Given the description of an element on the screen output the (x, y) to click on. 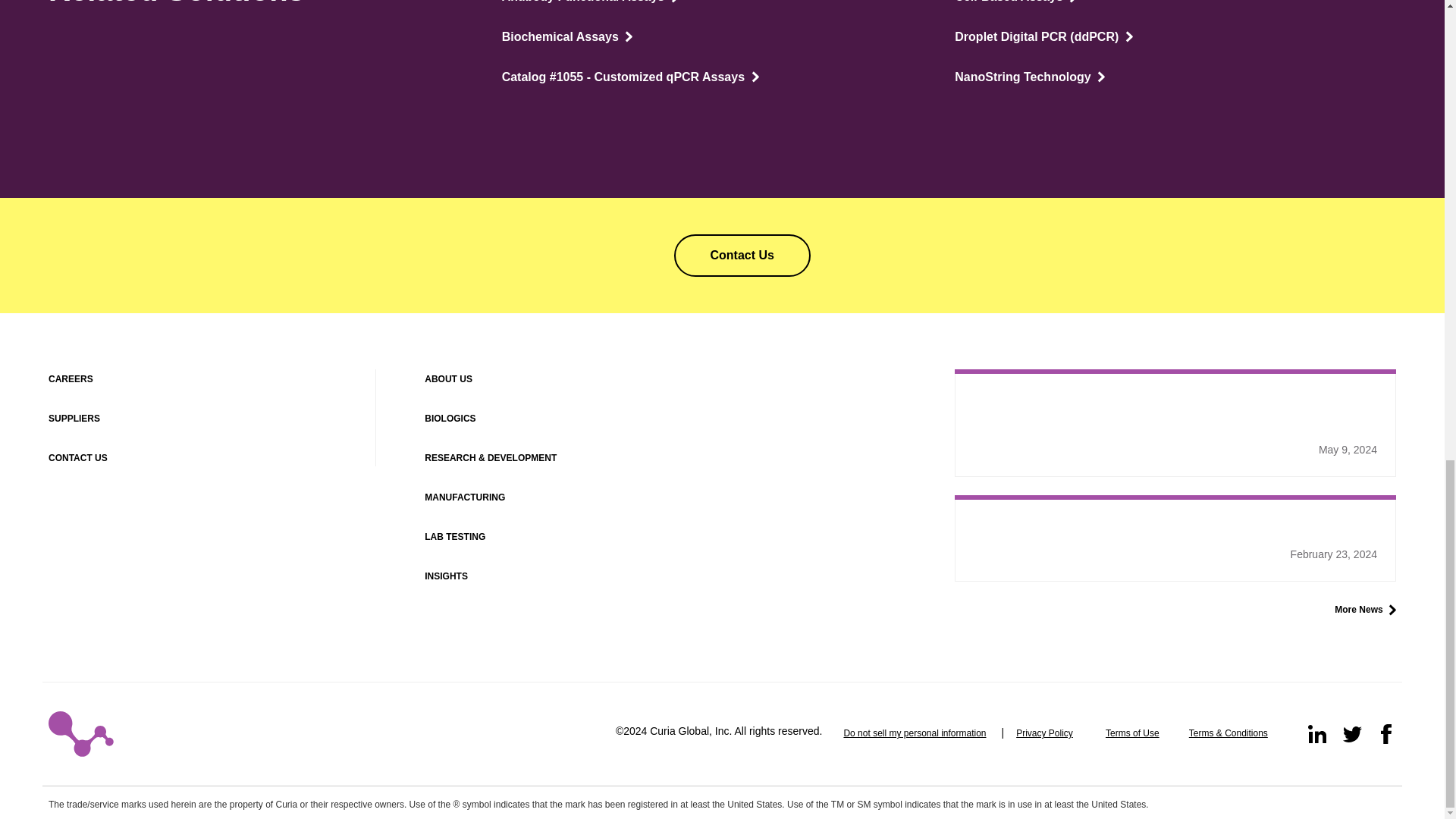
Icon Twitter (1351, 733)
Curia - Logo - Molecules (80, 733)
Icon LinkedIn (1316, 733)
Icon Facebook (1385, 733)
